Given the description of an element on the screen output the (x, y) to click on. 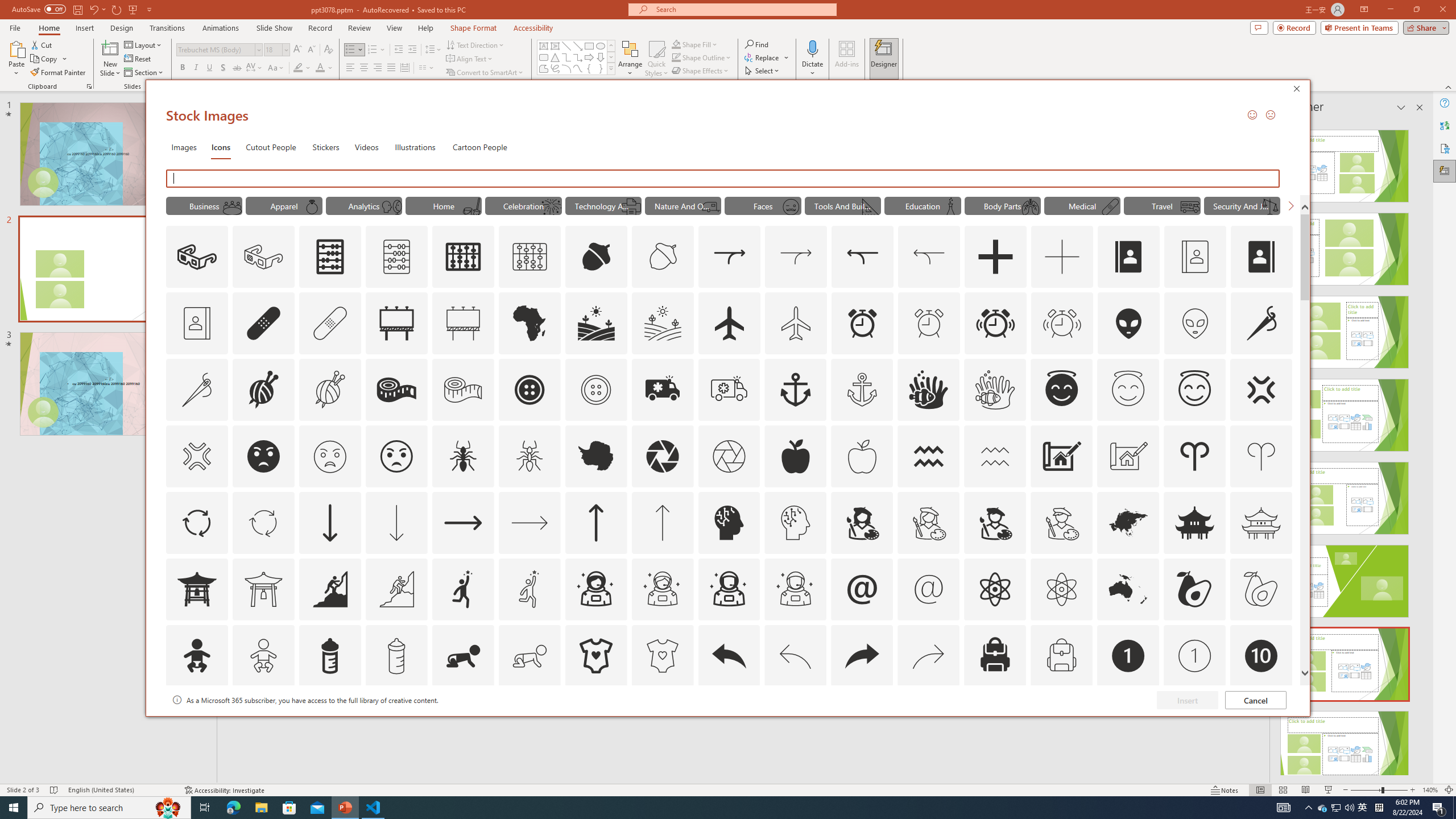
AutomationID: Icons_Ant_M (529, 455)
AutomationID: Icons_Badge8_M (1128, 721)
Shape Outline Green, Accent 1 (675, 56)
AutomationID: Icons_Acquisition_RTL_M (928, 256)
AutomationID: Icons_Back_LTR_M (795, 655)
Align Left (349, 67)
AutomationID: Icons_Architecture (1061, 455)
AutomationID: Icons_Abacus1_M (529, 256)
AutomationID: Icons_Ring_M (311, 206)
